Given the description of an element on the screen output the (x, y) to click on. 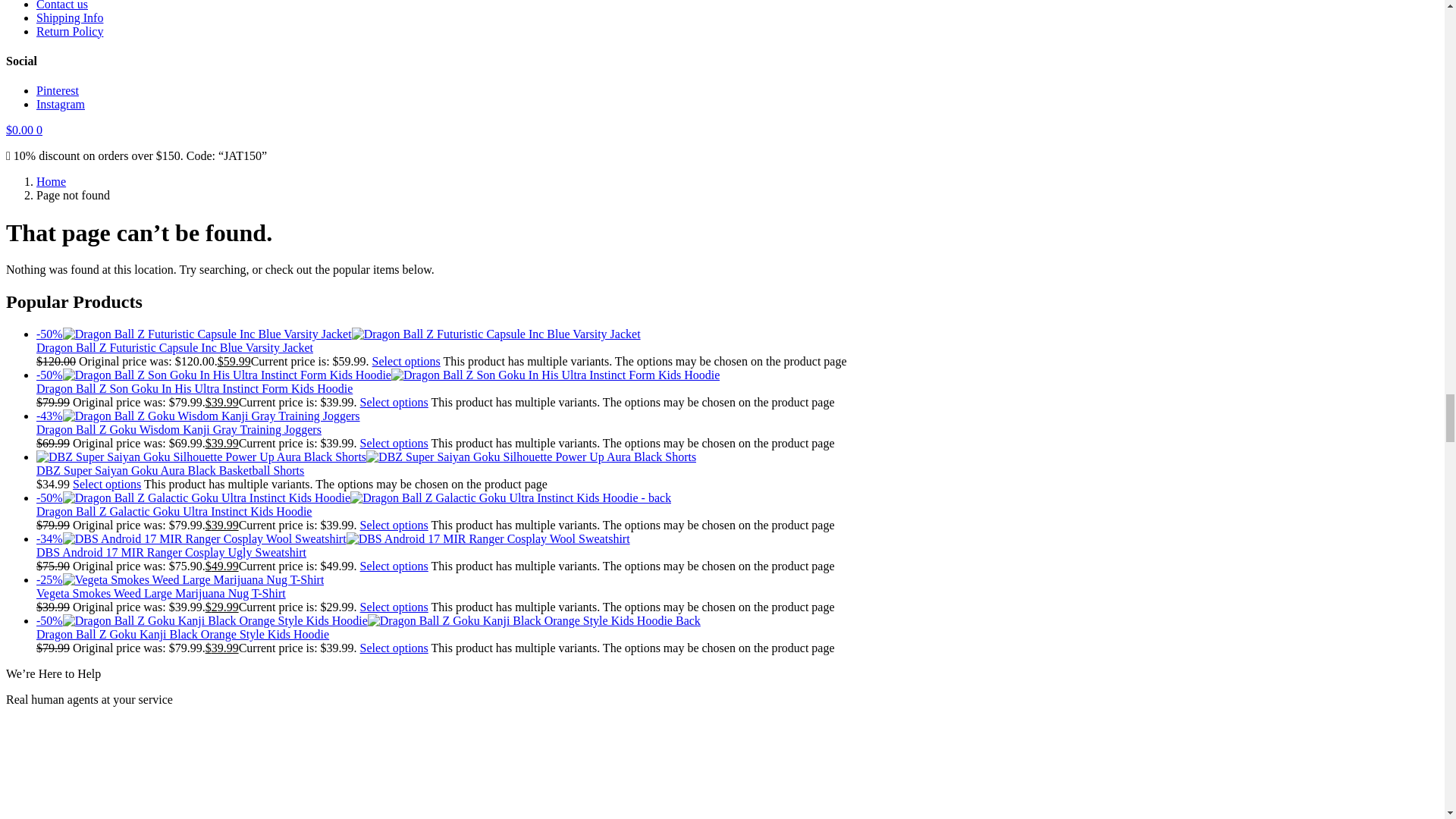
Vegeta Smokes Weed Large Marijuana Nug T-Shirt (179, 579)
DBS Android 17 MIR Ranger Cosplay Ugly Sweatshirt (333, 538)
DBZ Super Saiyan Goku Aura Black Basketball Shorts (365, 456)
Dragon Ball Z Futuristic Capsule Inc Blue Varsity Jacket (338, 333)
Dragon Ball Z Goku Kanji Black Orange Style Kids Hoodie (368, 620)
Dragon Ball Z Goku Wisdom Kanji Gray Training Joggers (197, 415)
View your shopping cart (23, 129)
Dragon Ball Z Galactic Goku Ultra Instinct Kids Hoodie (353, 497)
